Given the description of an element on the screen output the (x, y) to click on. 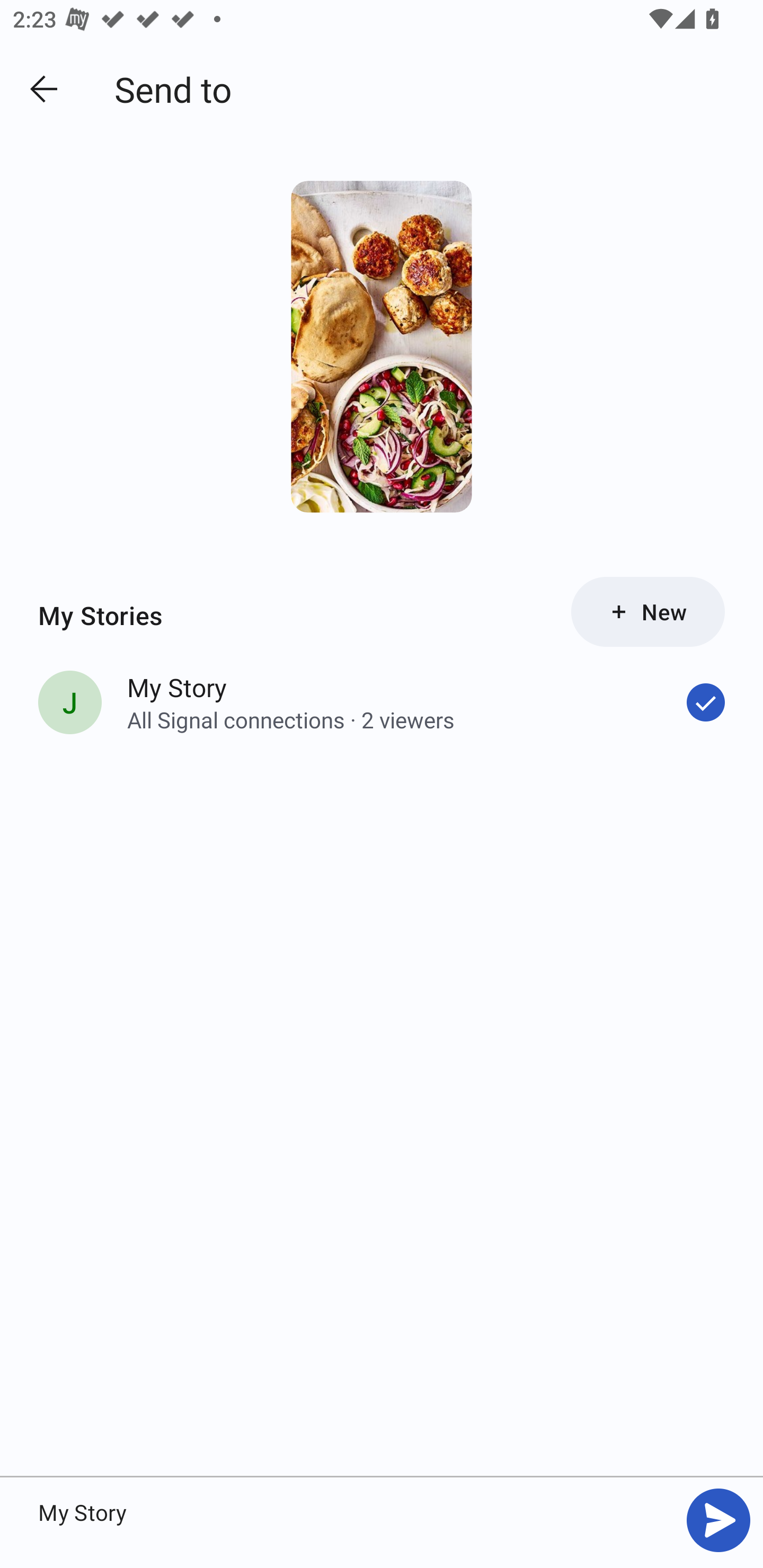
Share (718, 1520)
